Given the description of an element on the screen output the (x, y) to click on. 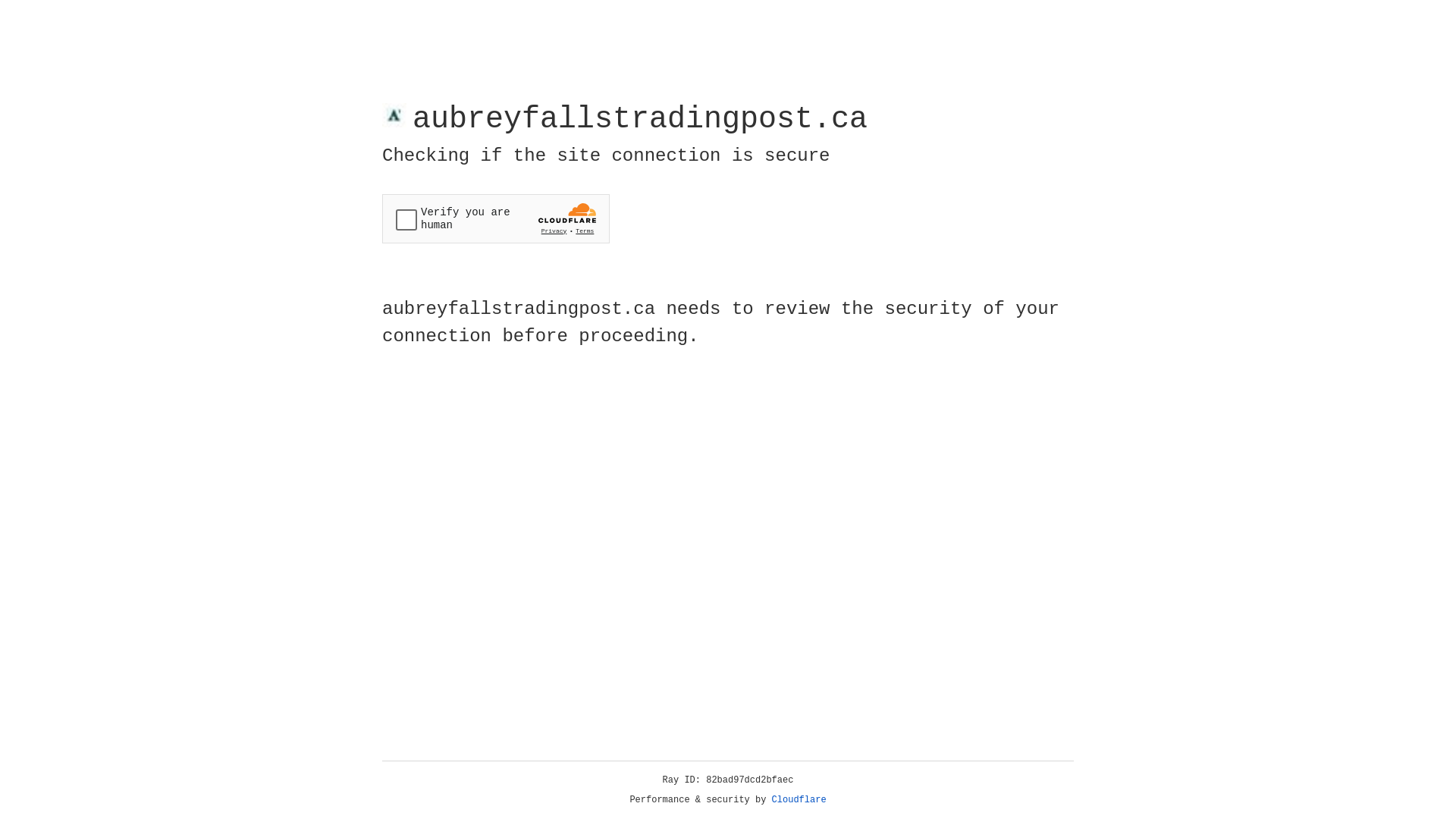
Widget containing a Cloudflare security challenge Element type: hover (495, 218)
Cloudflare Element type: text (798, 799)
